Given the description of an element on the screen output the (x, y) to click on. 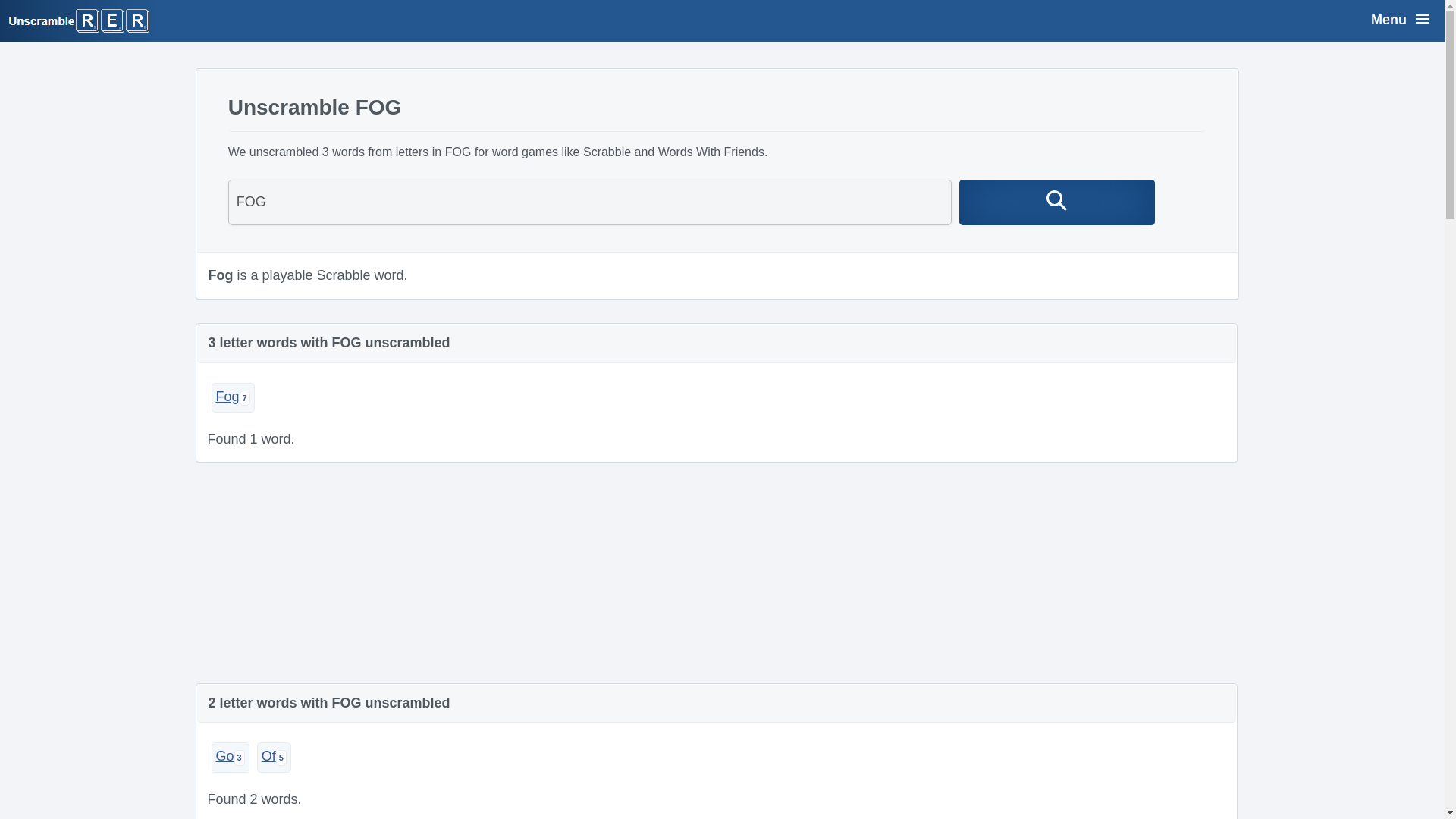
Of (274, 757)
Go (229, 757)
Unscramblerer (78, 20)
FOG (590, 202)
Fog (232, 397)
Unscramble It (1056, 202)
